Given the description of an element on the screen output the (x, y) to click on. 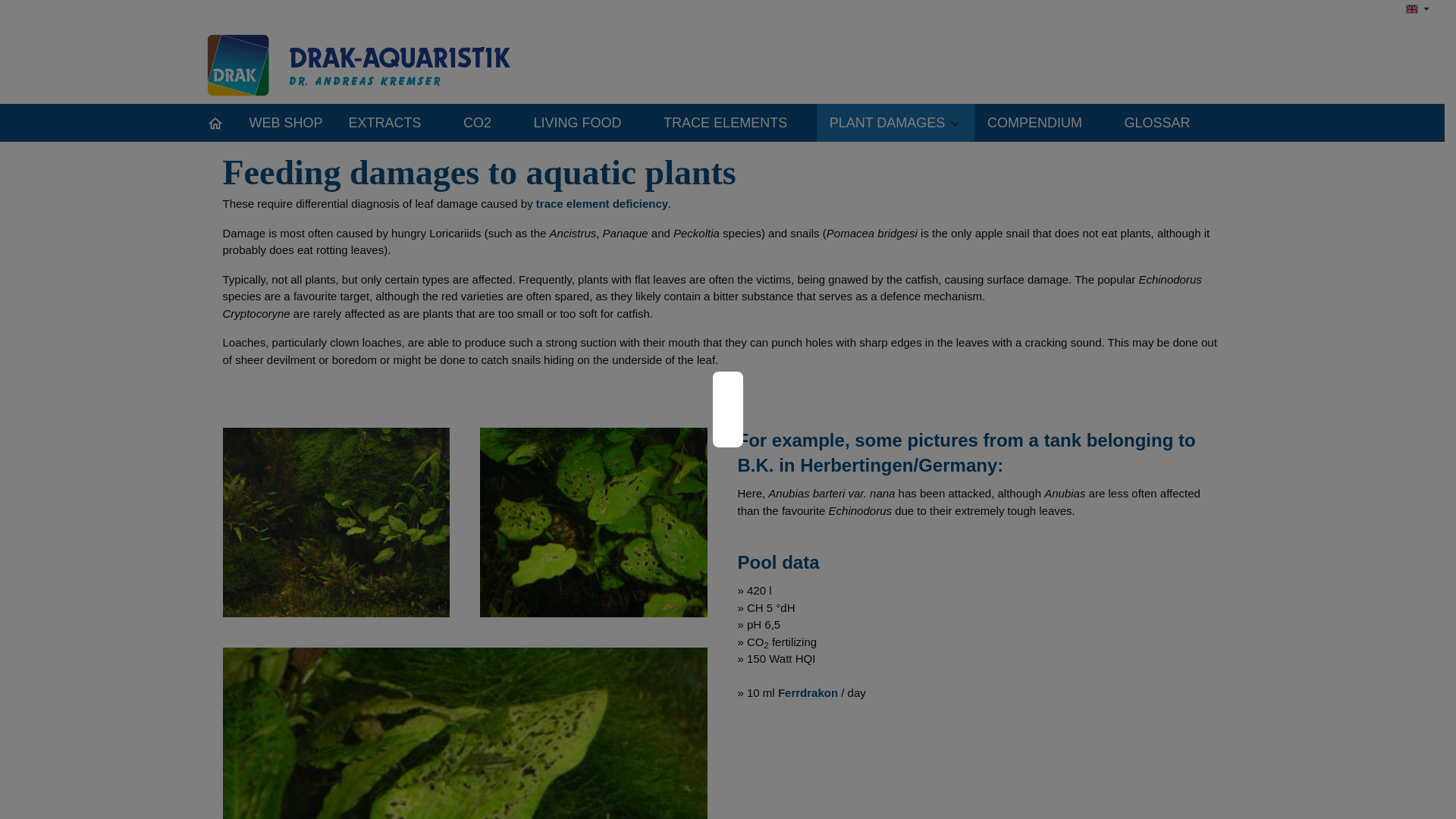
Plant Damages (895, 122)
EXTRACTS (393, 122)
PLANT DAMAGES (895, 122)
CO2 (485, 122)
Living food (585, 122)
COMPENDIUM (1043, 122)
GLOSSAR (1165, 122)
LIVING FOOD (585, 122)
WEB SHOP (285, 122)
Go to homepage (373, 63)
CO2 (485, 122)
Trace Elements (733, 122)
Web shop (285, 122)
Glossar (1165, 122)
Compendium (1043, 122)
